Given the description of an element on the screen output the (x, y) to click on. 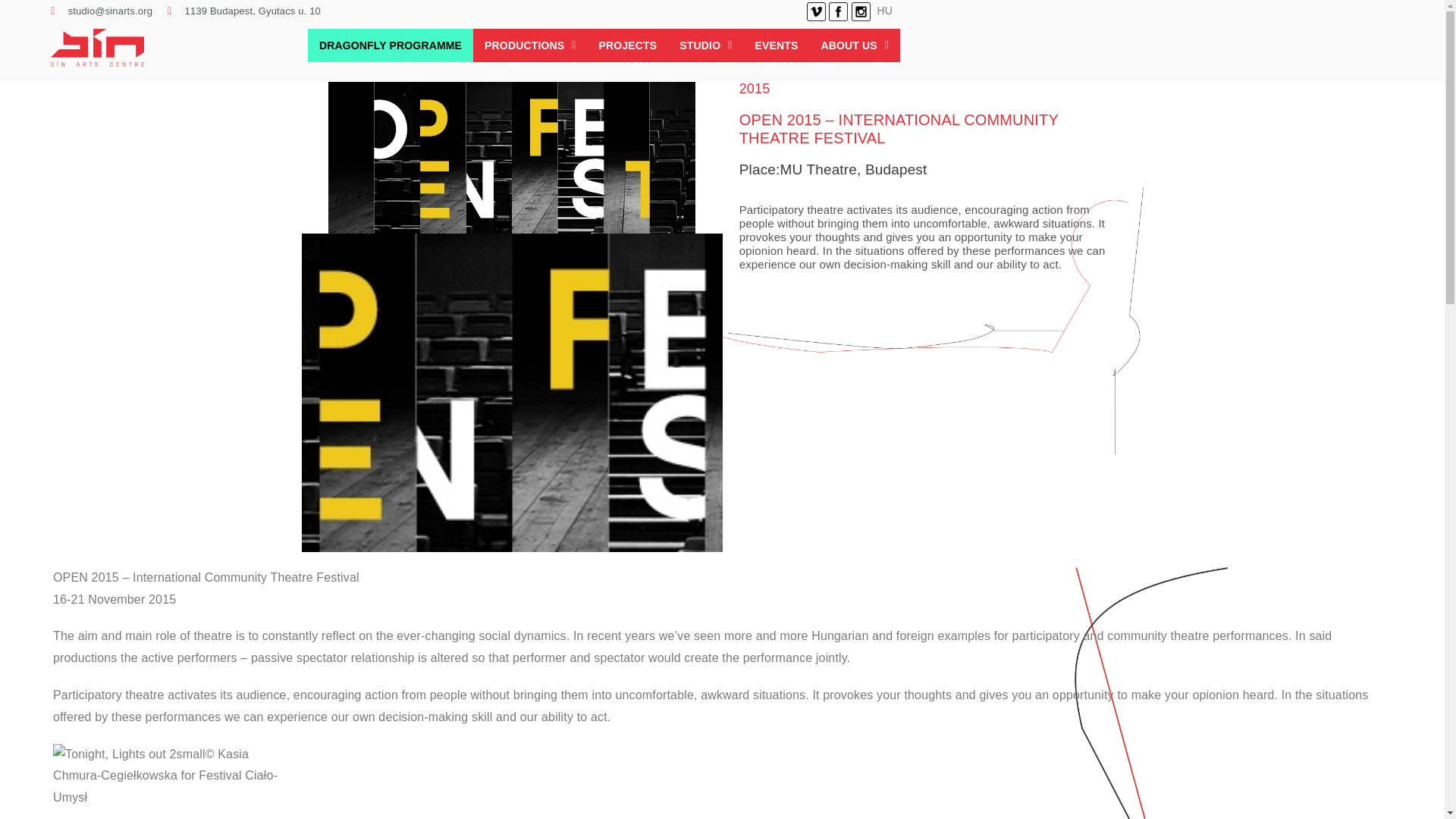
PROJECTS (628, 45)
PRODUCTIONS (530, 45)
HU (885, 10)
STUDIO (705, 45)
DRAGONFLY PROGRAMME (390, 45)
ABOUT US (854, 45)
EVENTS (775, 45)
